Given the description of an element on the screen output the (x, y) to click on. 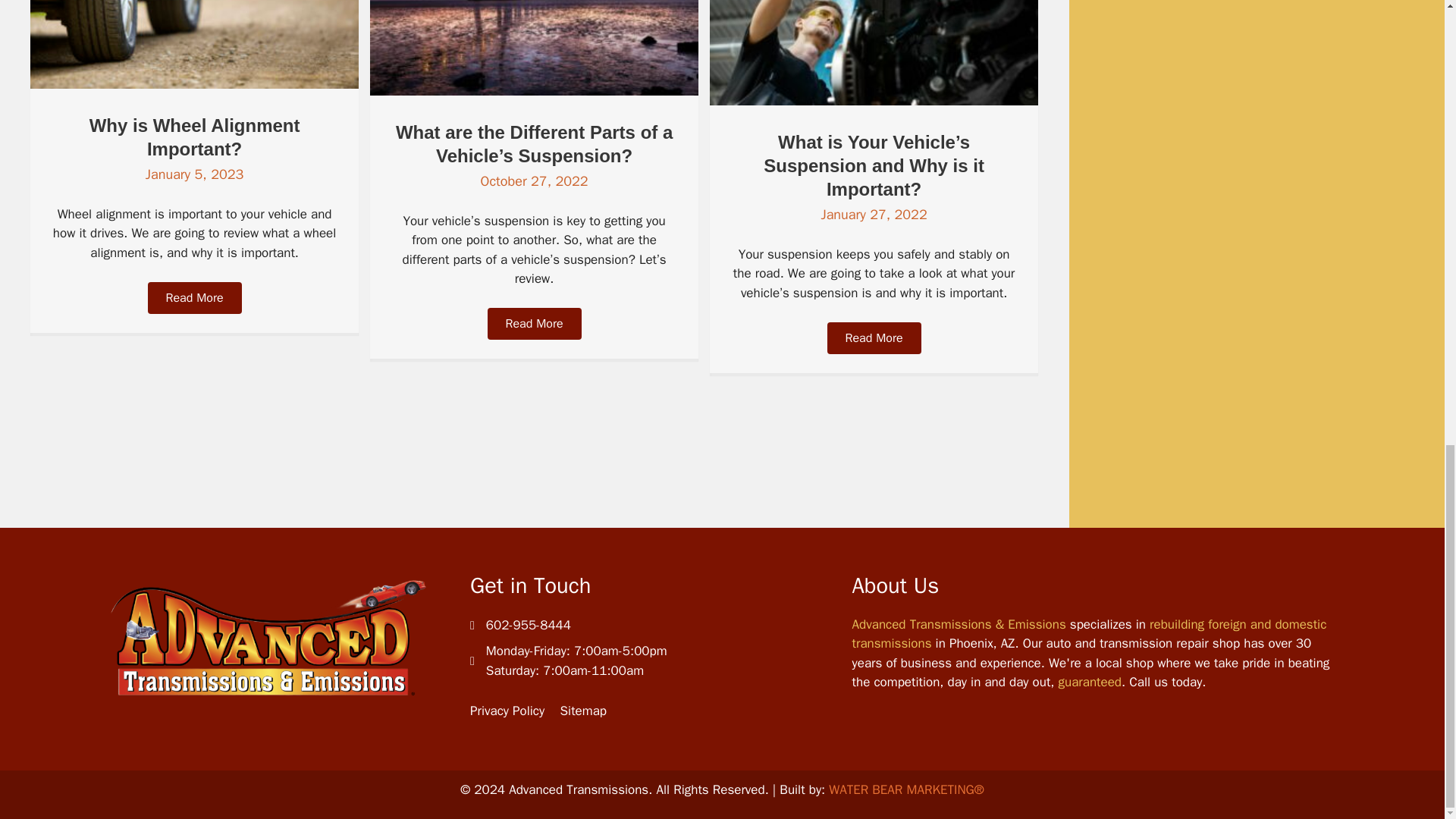
Why is Wheel Alignment Important? (193, 136)
Why is Wheel Alignment Important? (194, 84)
Read More (194, 297)
Why is Wheel Alignment Important? (193, 136)
